Given the description of an element on the screen output the (x, y) to click on. 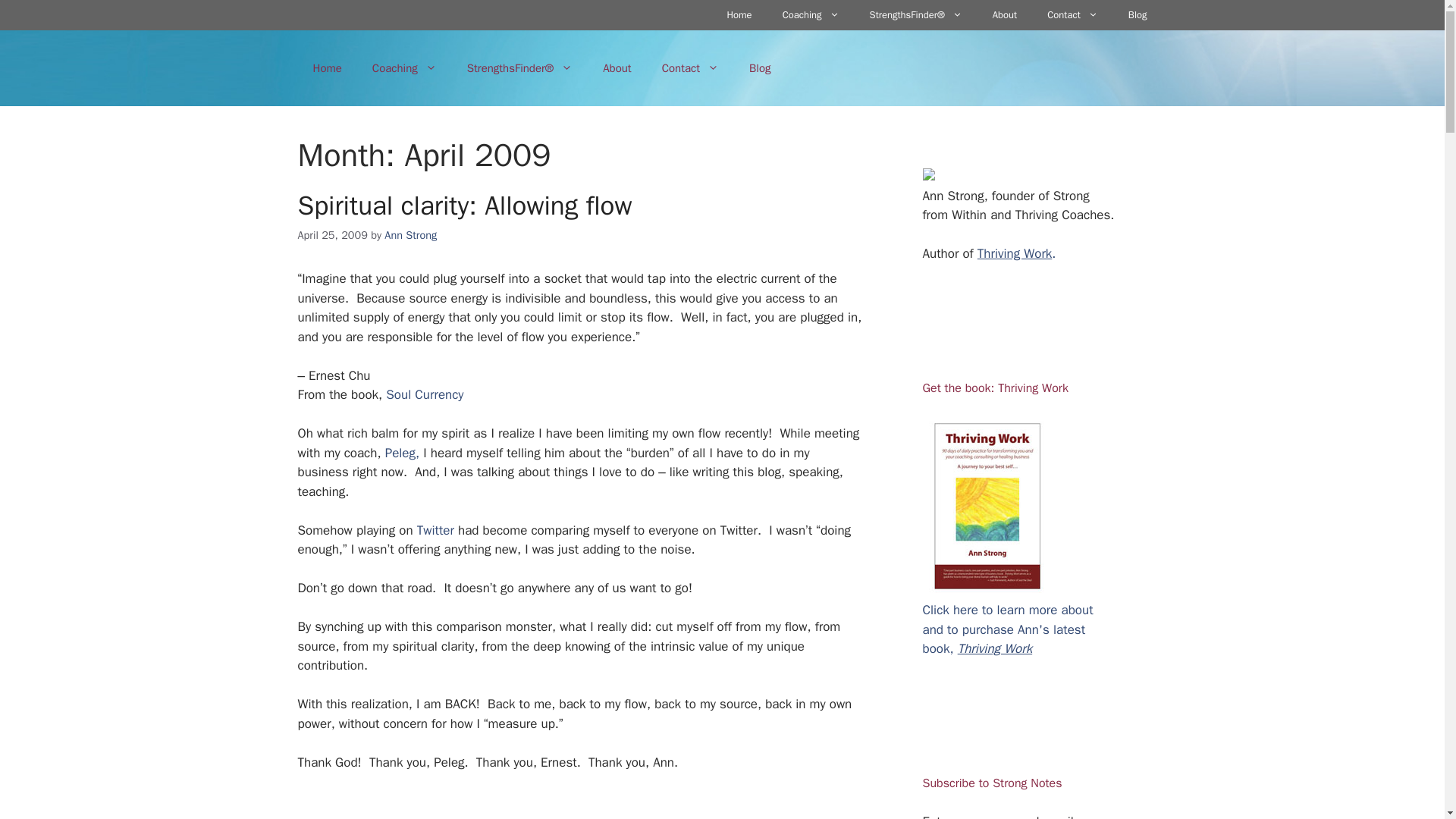
View all posts by Ann Strong (410, 234)
Coaching (403, 67)
Thriving Work. (1016, 253)
Ann Strong (410, 234)
Spiritual clarity: Allowing flow (464, 205)
Home (739, 15)
About (617, 67)
Peleg, (402, 453)
Blog (759, 67)
Twitter (435, 530)
